Given the description of an element on the screen output the (x, y) to click on. 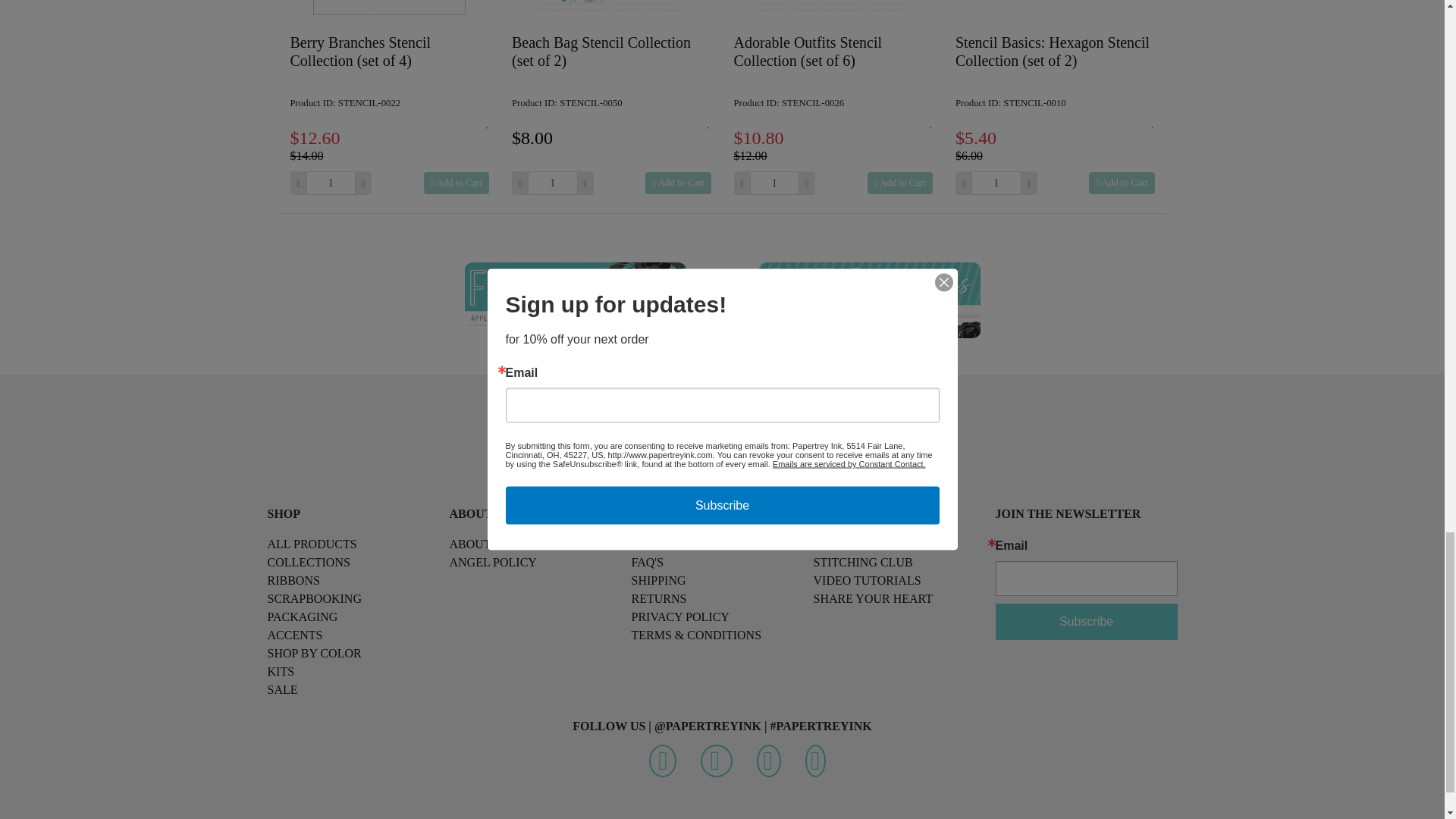
1 (551, 182)
1 (330, 182)
1 (995, 182)
1 (774, 182)
